Given the description of an element on the screen output the (x, y) to click on. 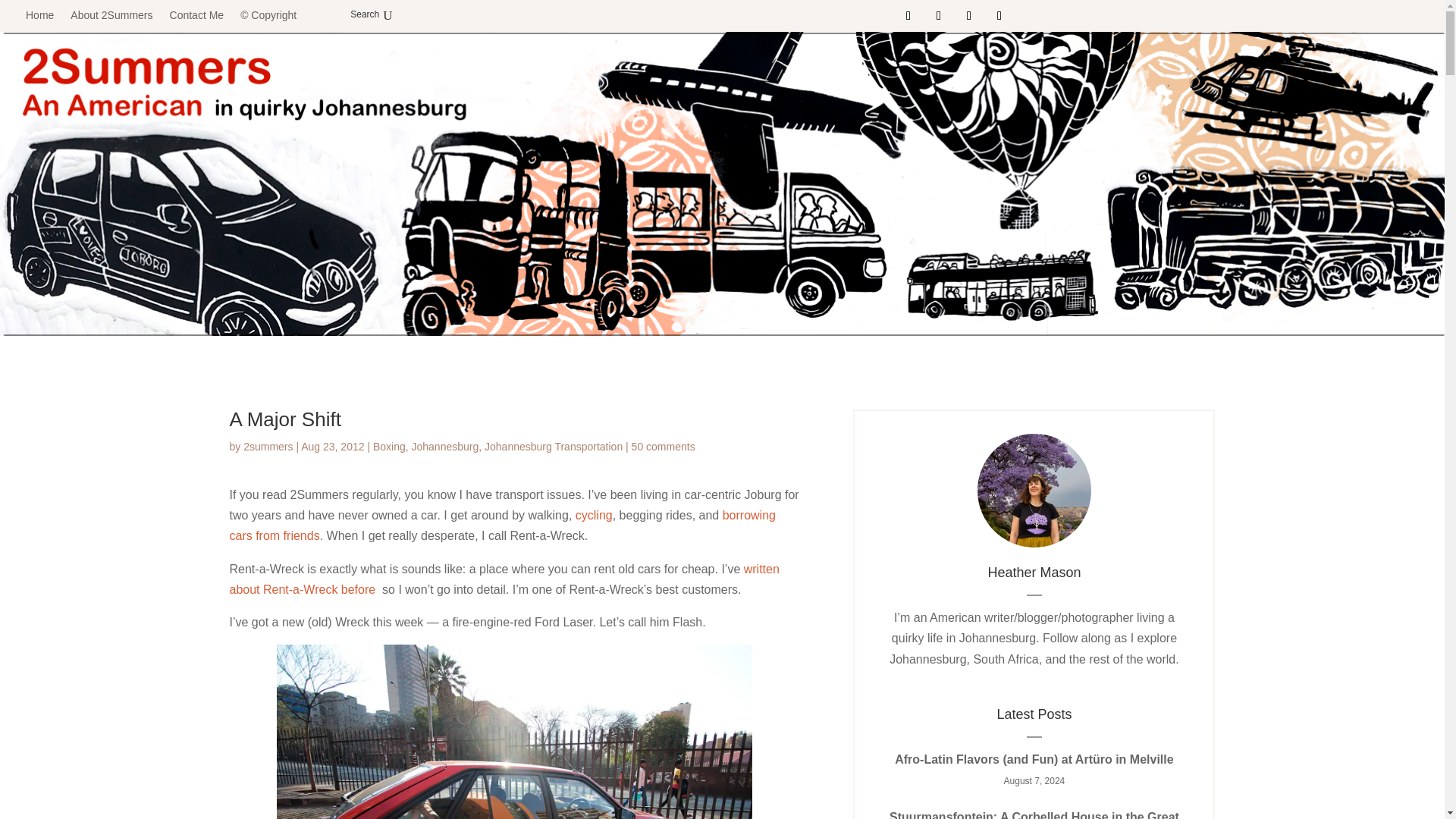
About 2Summers (110, 14)
50 comments (663, 446)
Posts by 2summers (267, 446)
Boxing (389, 446)
Johannesburg Transportation (553, 446)
Contact Me (197, 14)
Home (39, 14)
Follow on Instagram (968, 15)
cycling (593, 514)
